Given the description of an element on the screen output the (x, y) to click on. 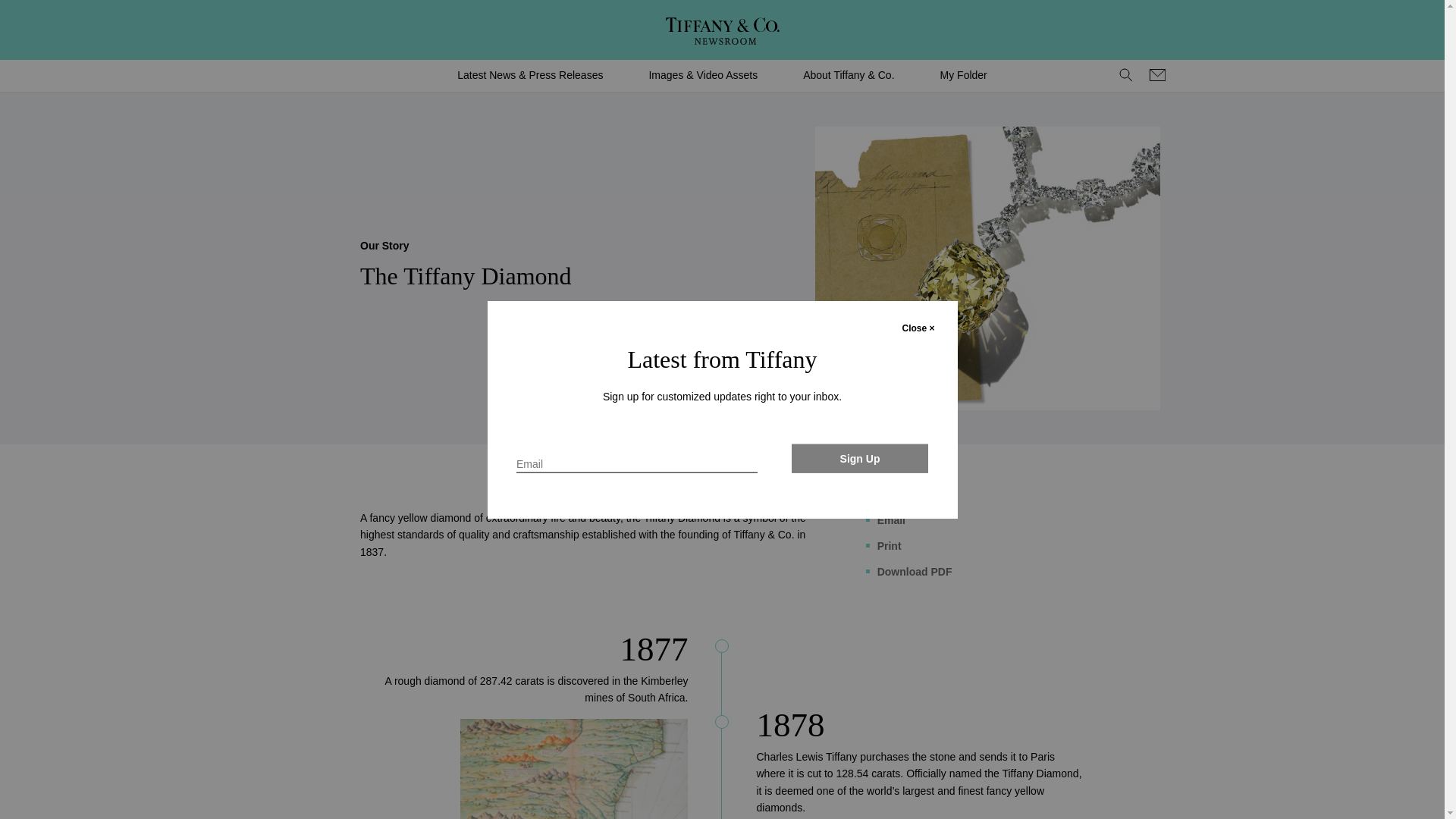
Sign Up (860, 457)
